Given the description of an element on the screen output the (x, y) to click on. 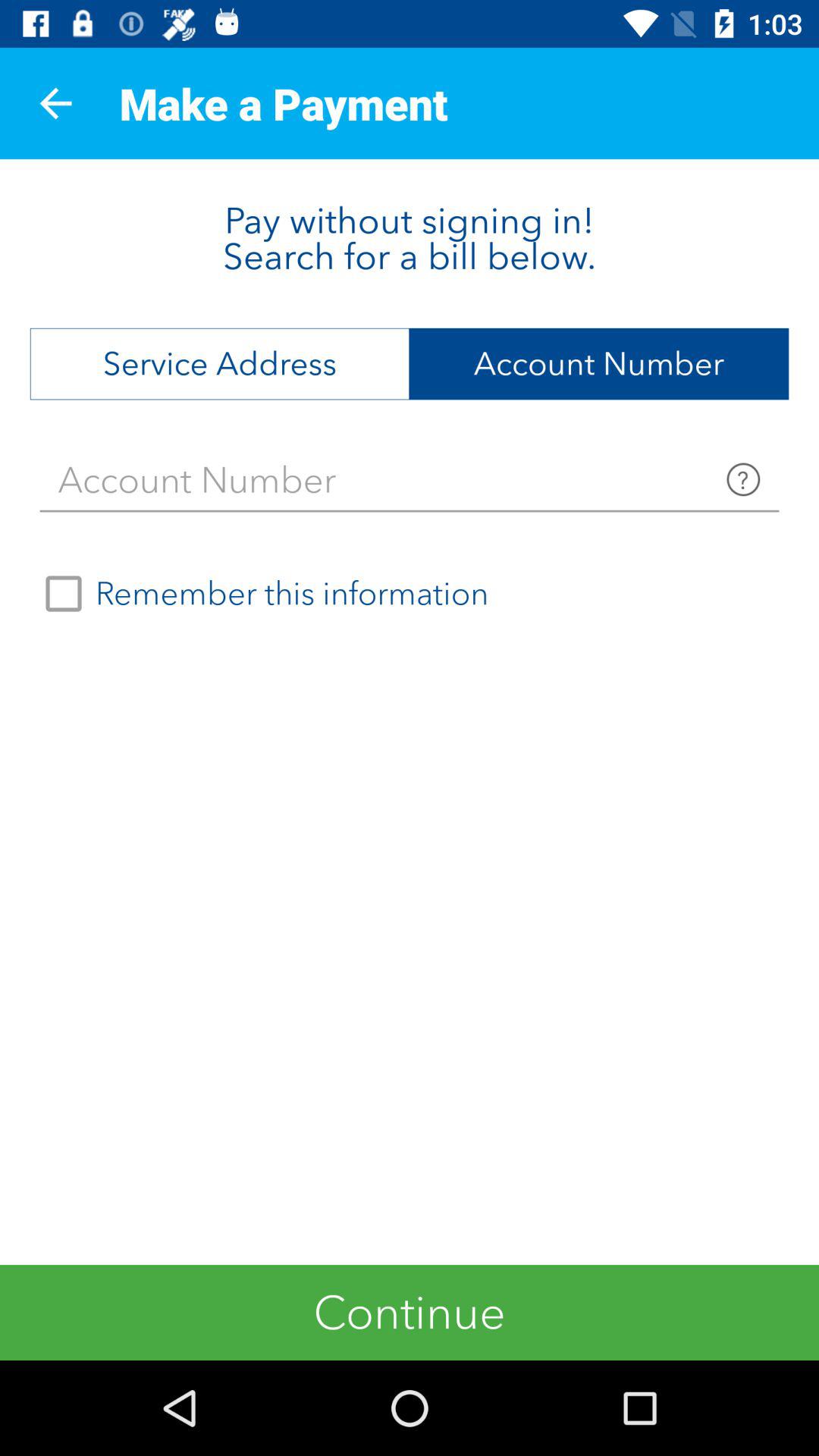
click icon below the pay without signing item (219, 363)
